Given the description of an element on the screen output the (x, y) to click on. 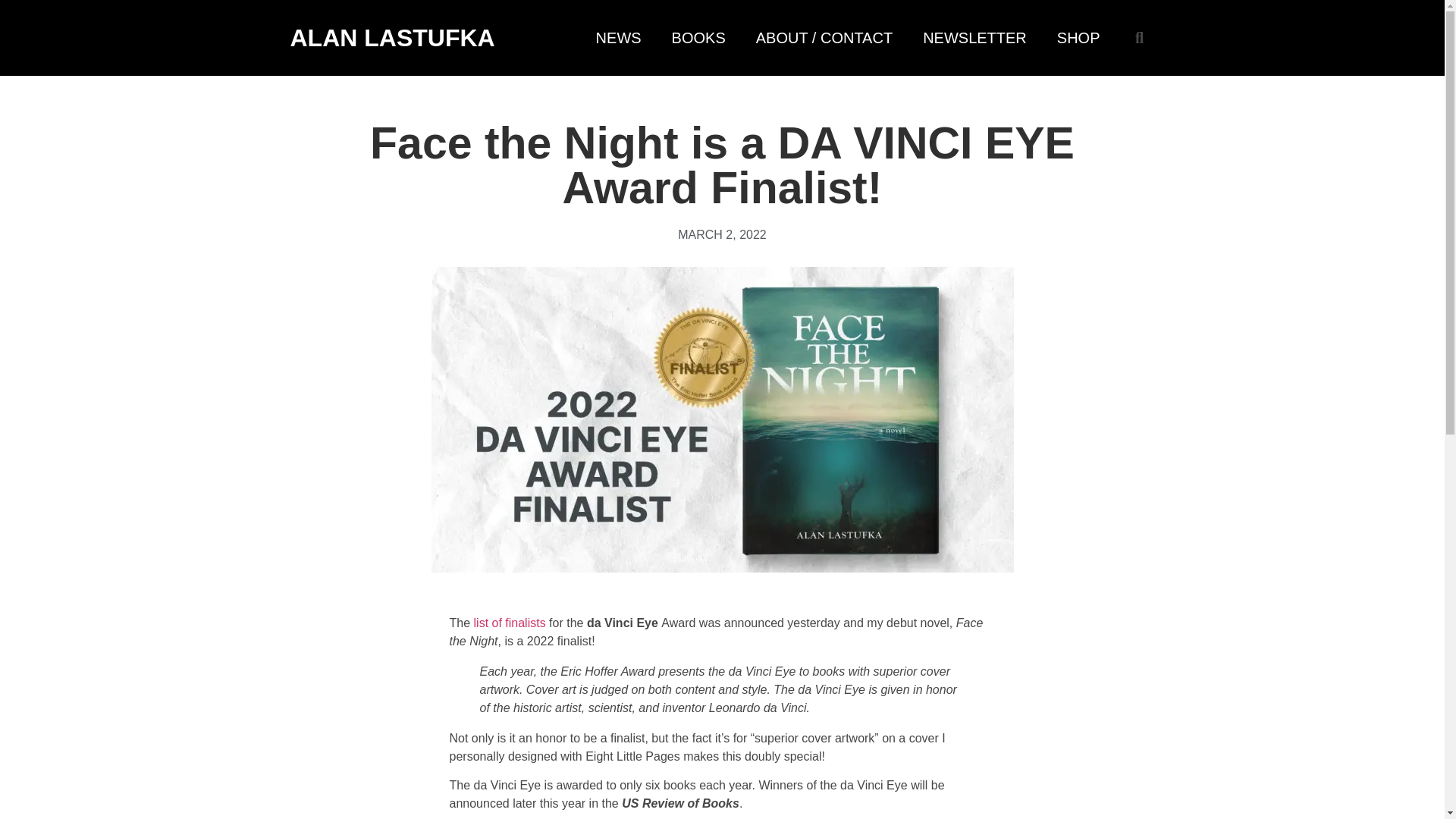
NEWSLETTER (974, 38)
SHOP (1078, 38)
NEWS (618, 38)
BOOKS (698, 38)
ALAN LASTUFKA (392, 37)
list of finalists (510, 622)
